Given the description of an element on the screen output the (x, y) to click on. 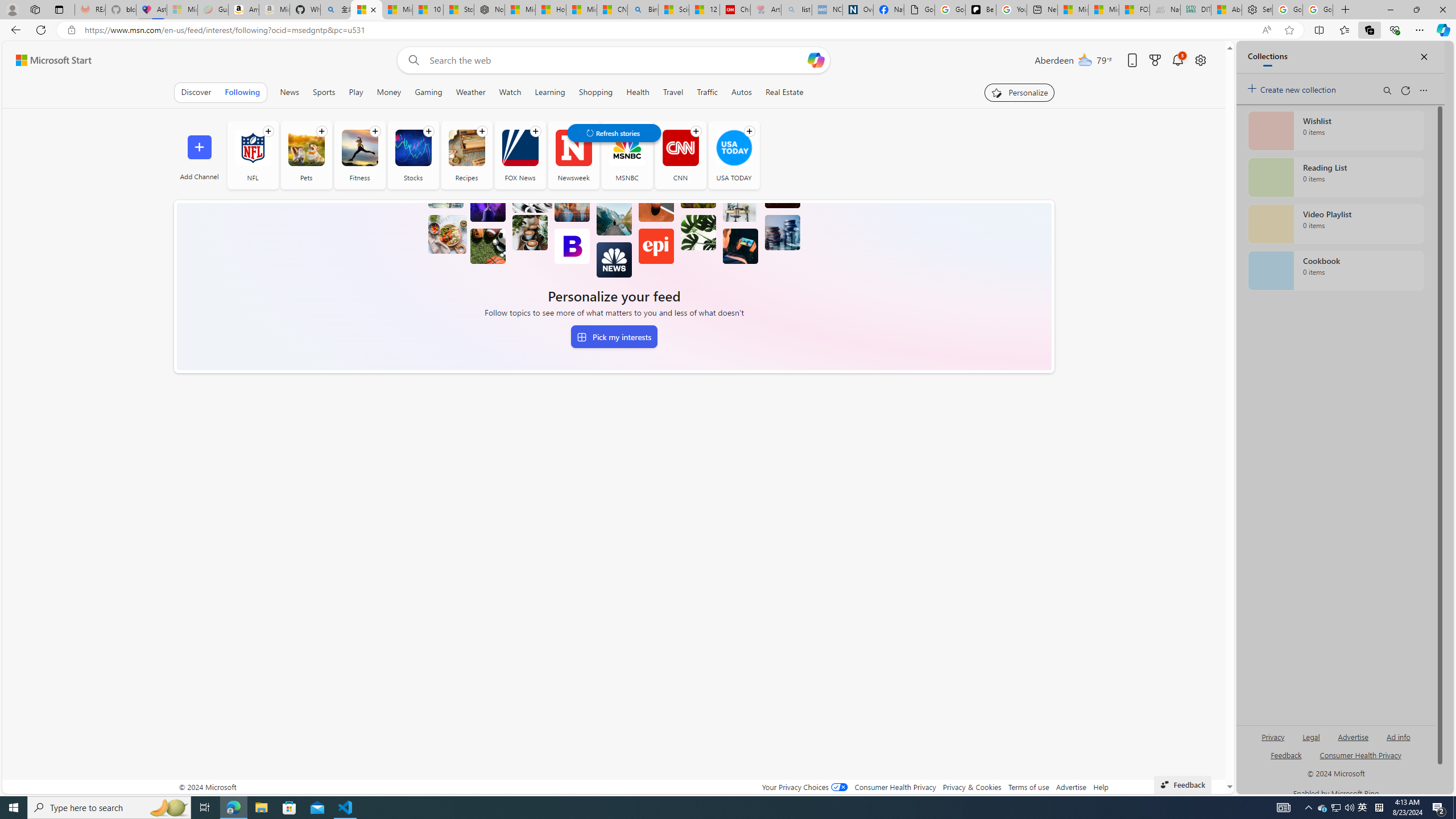
Class: control (613, 132)
USA TODAY (733, 147)
Learning (549, 92)
Stocks (412, 147)
FOX News (520, 147)
Watch (510, 92)
CNN - MSN (611, 9)
